Given the description of an element on the screen output the (x, y) to click on. 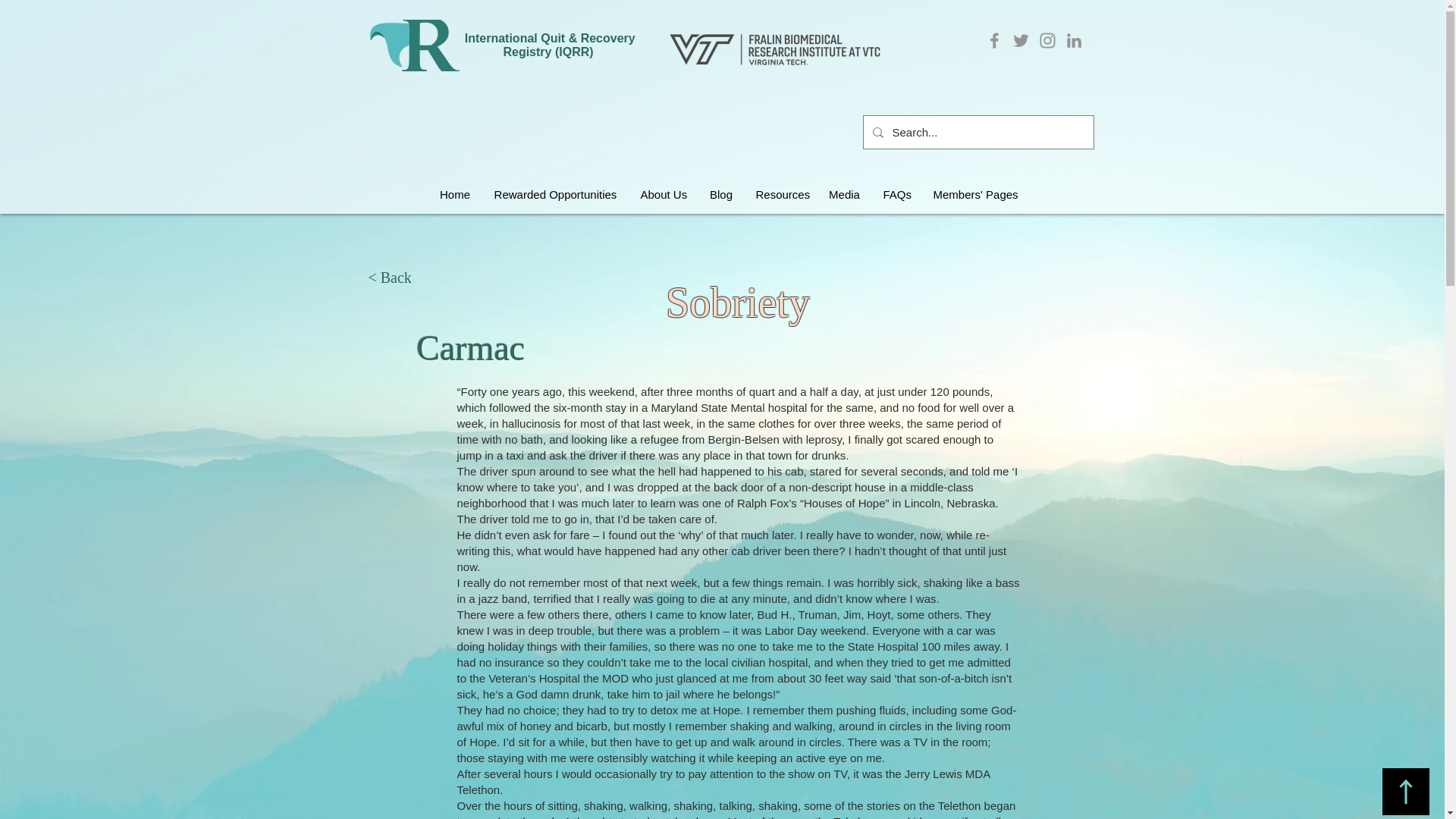
Home (454, 194)
About Us (663, 194)
FAQs (896, 194)
Media (844, 194)
Resources (780, 194)
Rewarded Opportunities (554, 194)
 International (500, 38)
Quit (553, 38)
Blog (720, 194)
Members' Pages (974, 194)
